Given the description of an element on the screen output the (x, y) to click on. 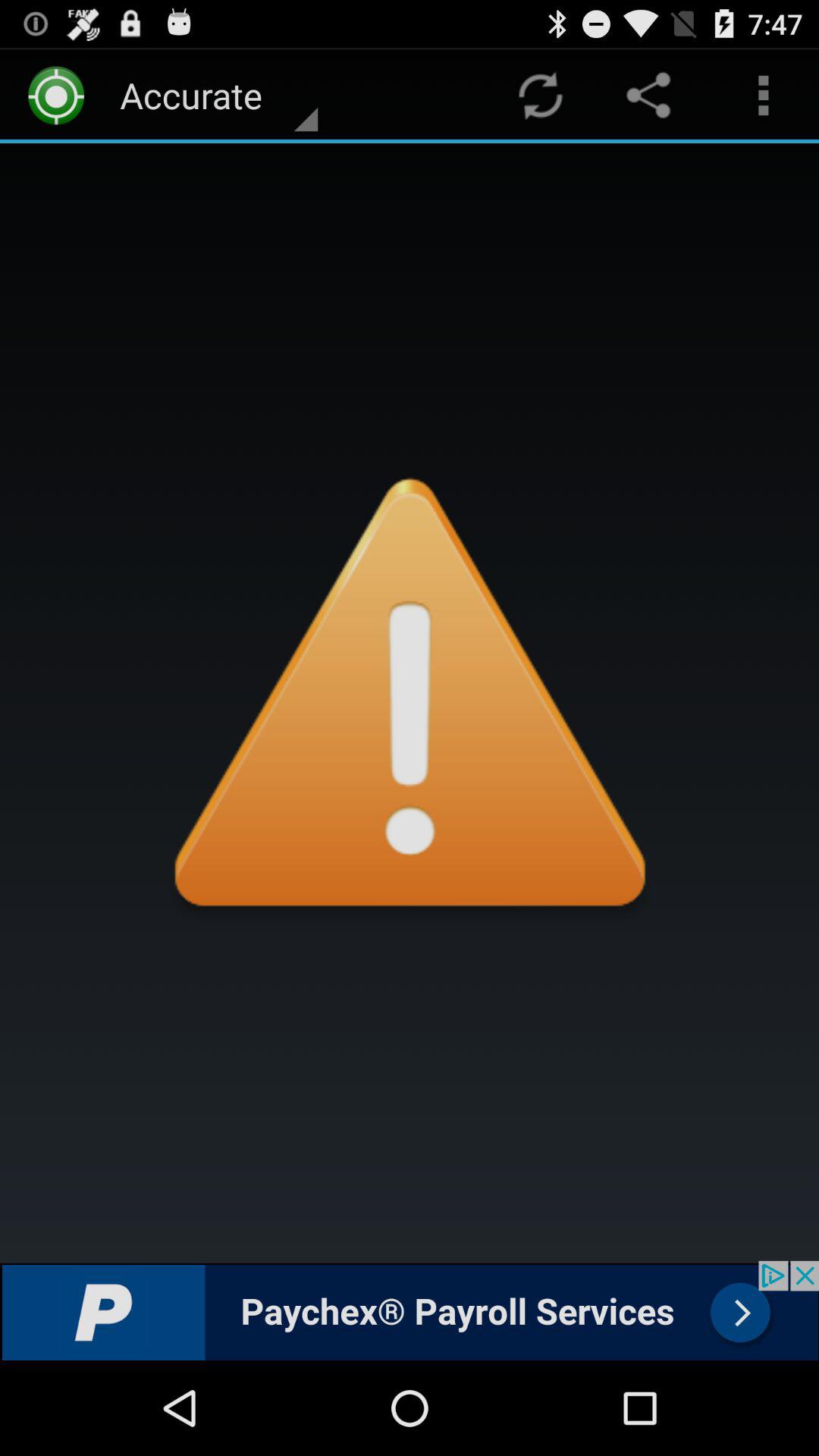
open advertisement (409, 1310)
